Given the description of an element on the screen output the (x, y) to click on. 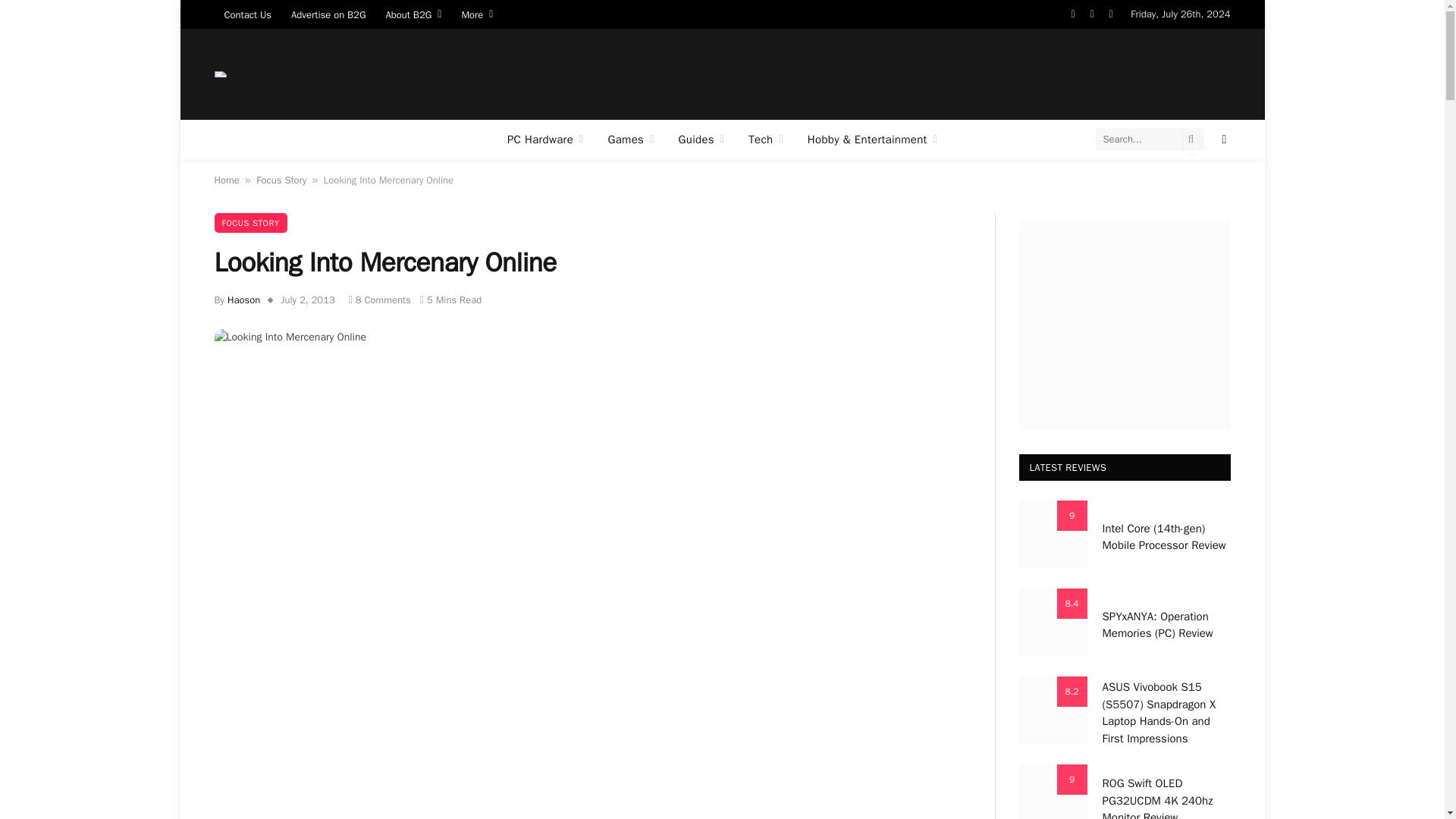
Instagram (1110, 14)
Contact Us (247, 14)
About B2G (413, 14)
PC Hardware (545, 138)
Back2Gaming (219, 74)
Facebook (1072, 14)
Advertise on B2G (328, 14)
More (476, 14)
